Given the description of an element on the screen output the (x, y) to click on. 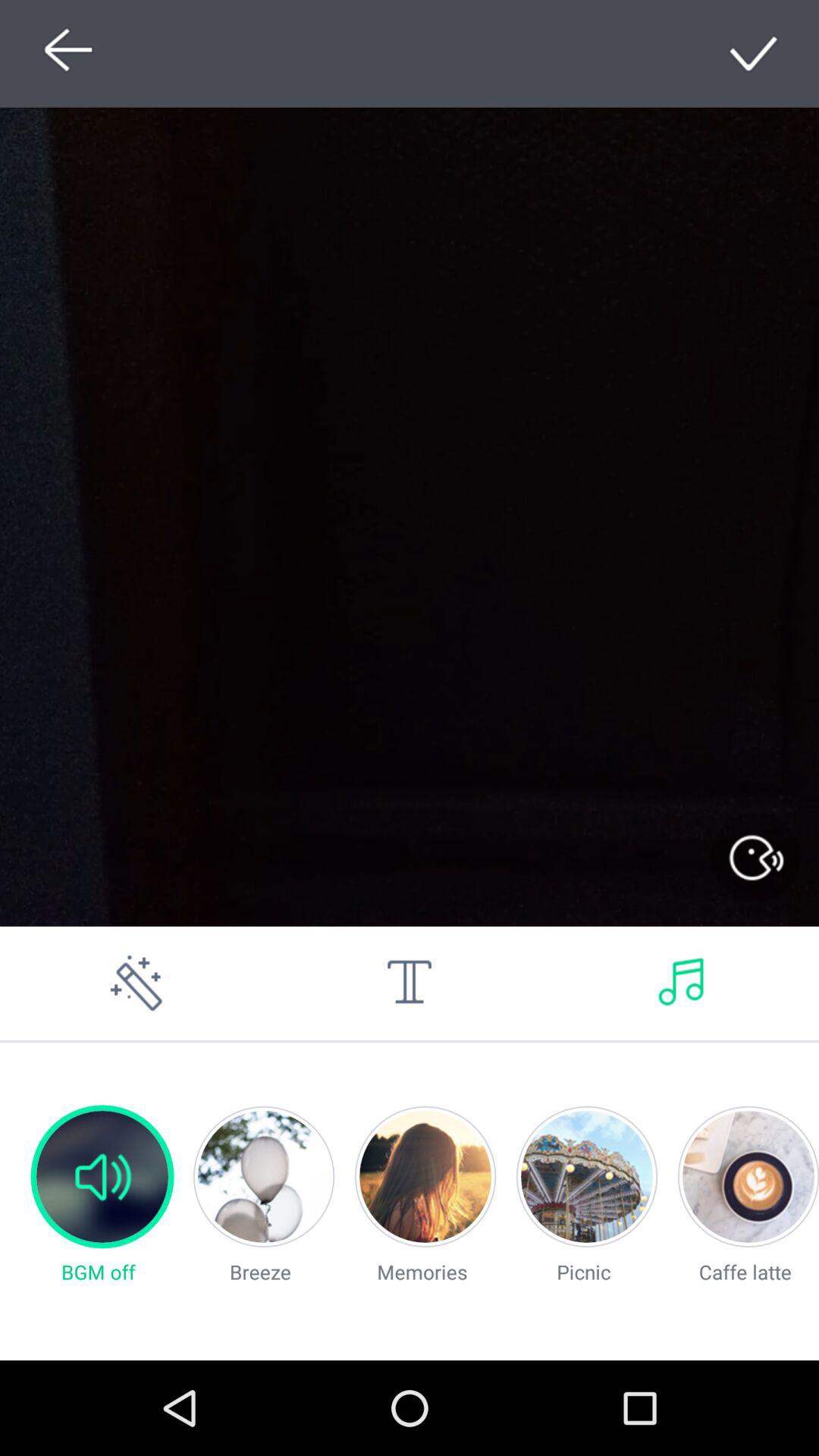
save (754, 53)
